Given the description of an element on the screen output the (x, y) to click on. 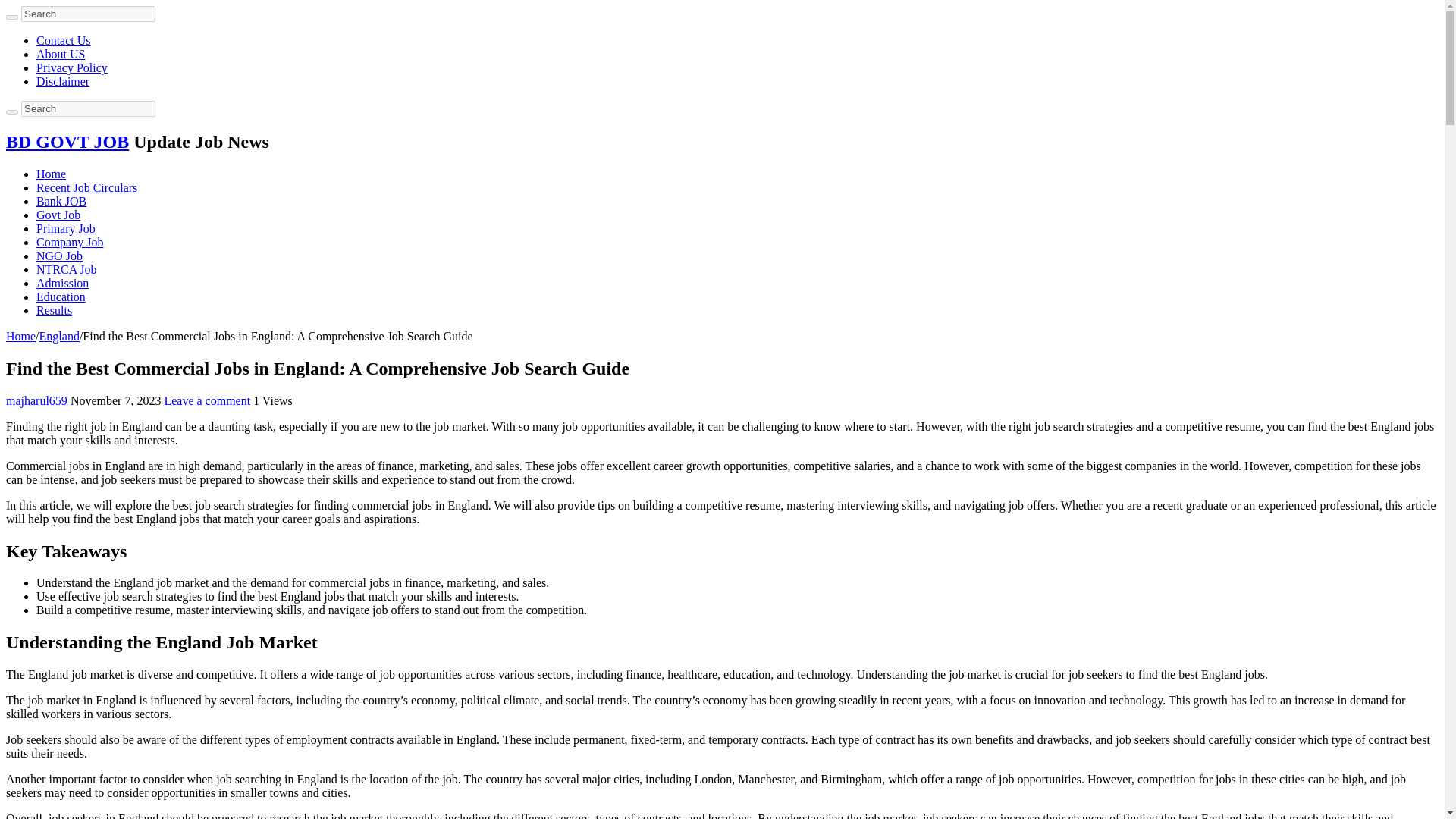
Primary Job (66, 228)
BD GOVT JOB (67, 141)
NGO Job (59, 255)
Search (11, 111)
NTRCA Job (66, 269)
About US (60, 53)
Privacy Policy (71, 67)
Home (19, 336)
Disclaimer (62, 81)
Contact Us (63, 40)
Leave a comment (206, 400)
Company Job (69, 241)
Search (88, 13)
Bank JOB (60, 201)
Search (88, 13)
